Given the description of an element on the screen output the (x, y) to click on. 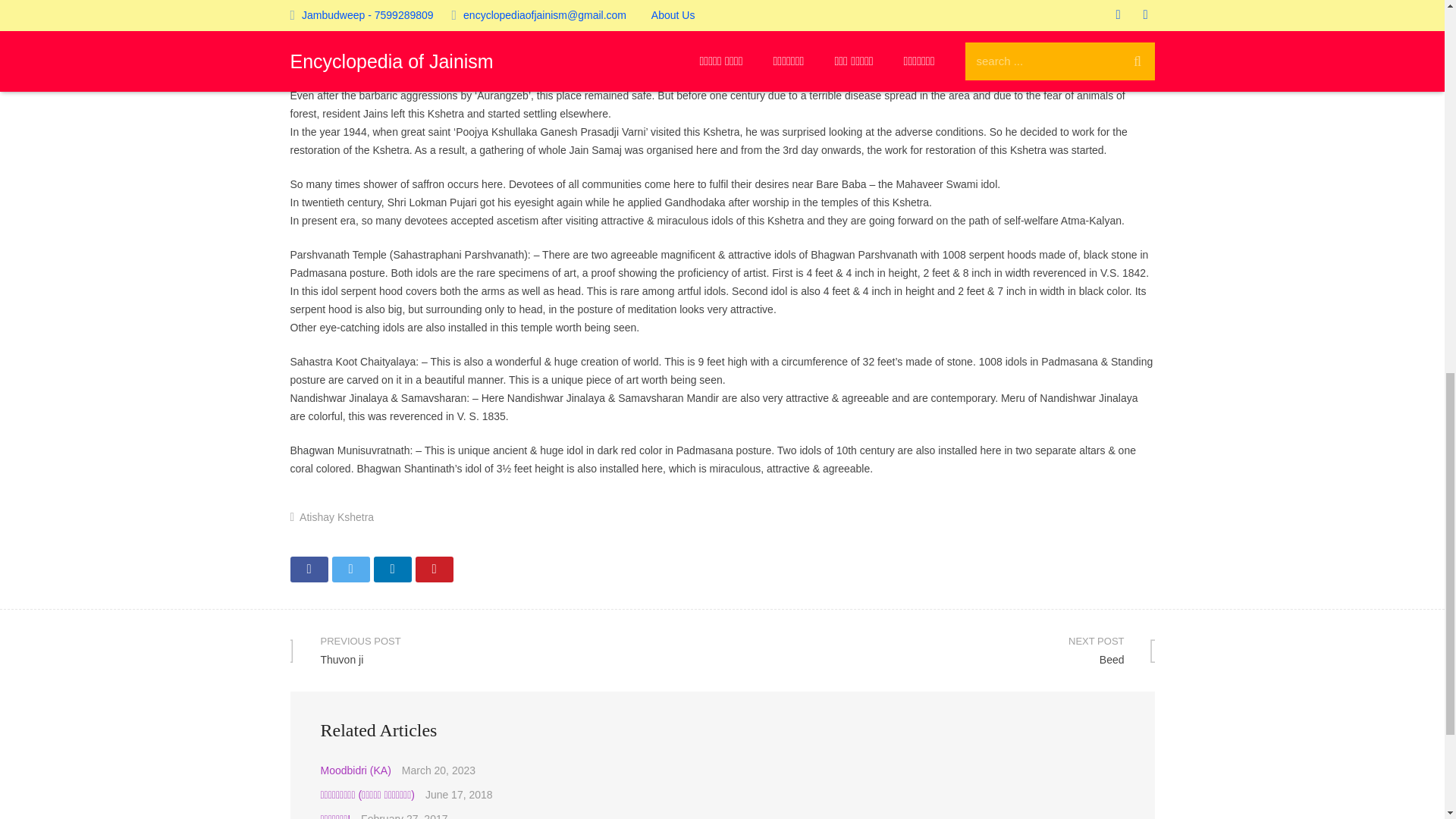
Atishay Kshetra (505, 650)
Share this (336, 517)
Pin this (391, 569)
Back to top (938, 650)
Tweet this (433, 569)
Share this (1411, 21)
